Given the description of an element on the screen output the (x, y) to click on. 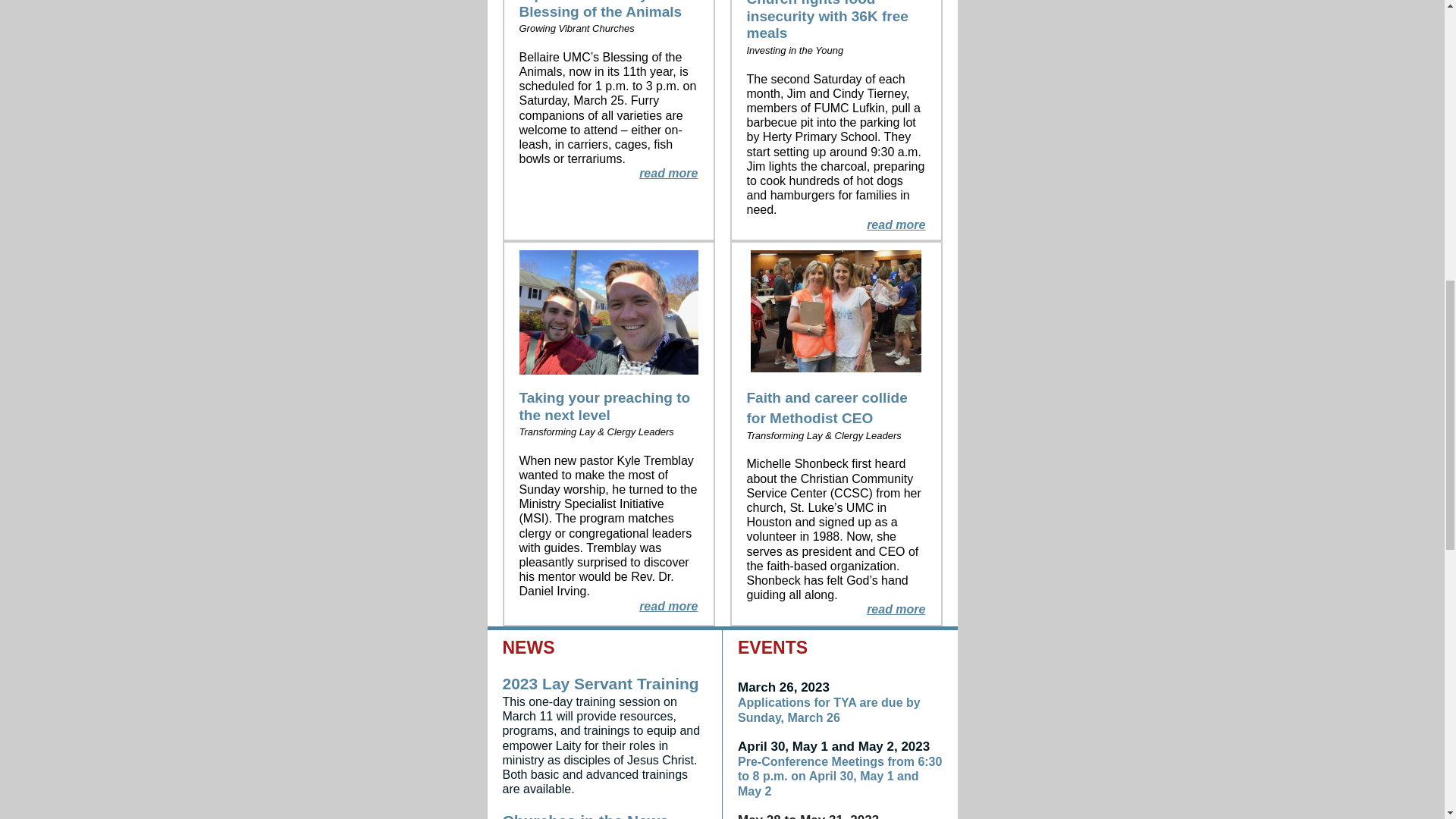
May 1 (876, 775)
2023 Lay Servant Training (600, 683)
A-paws on Sunday for Blessing of the Animals (599, 9)
read more (668, 605)
read more (895, 608)
May 2 (754, 790)
read more (895, 224)
Faith and career collide for Methodist CEO (826, 407)
Churches in the News (585, 815)
Taking your preaching to the next level (604, 406)
